Given the description of an element on the screen output the (x, y) to click on. 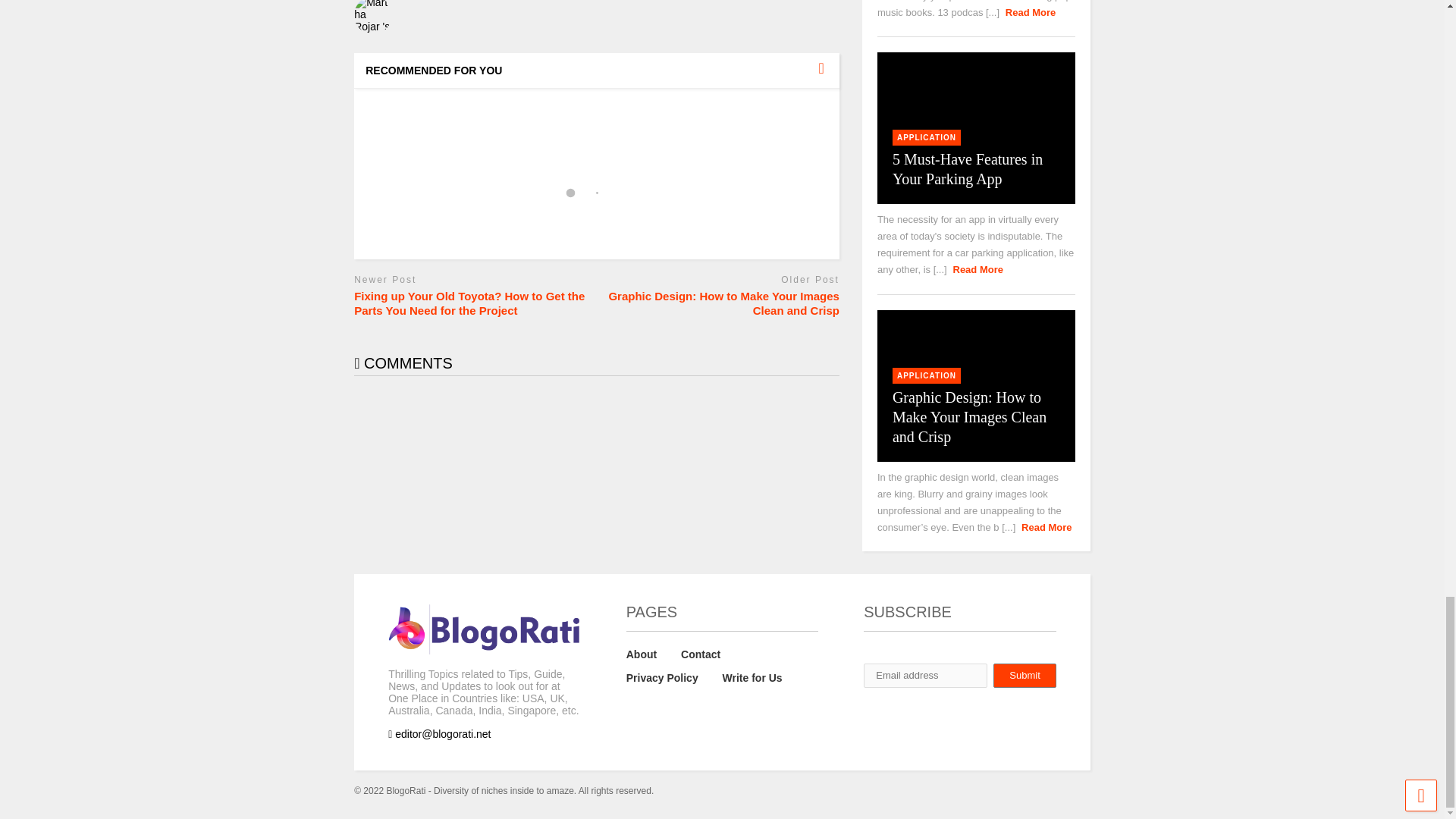
Submit (1023, 675)
